Given the description of an element on the screen output the (x, y) to click on. 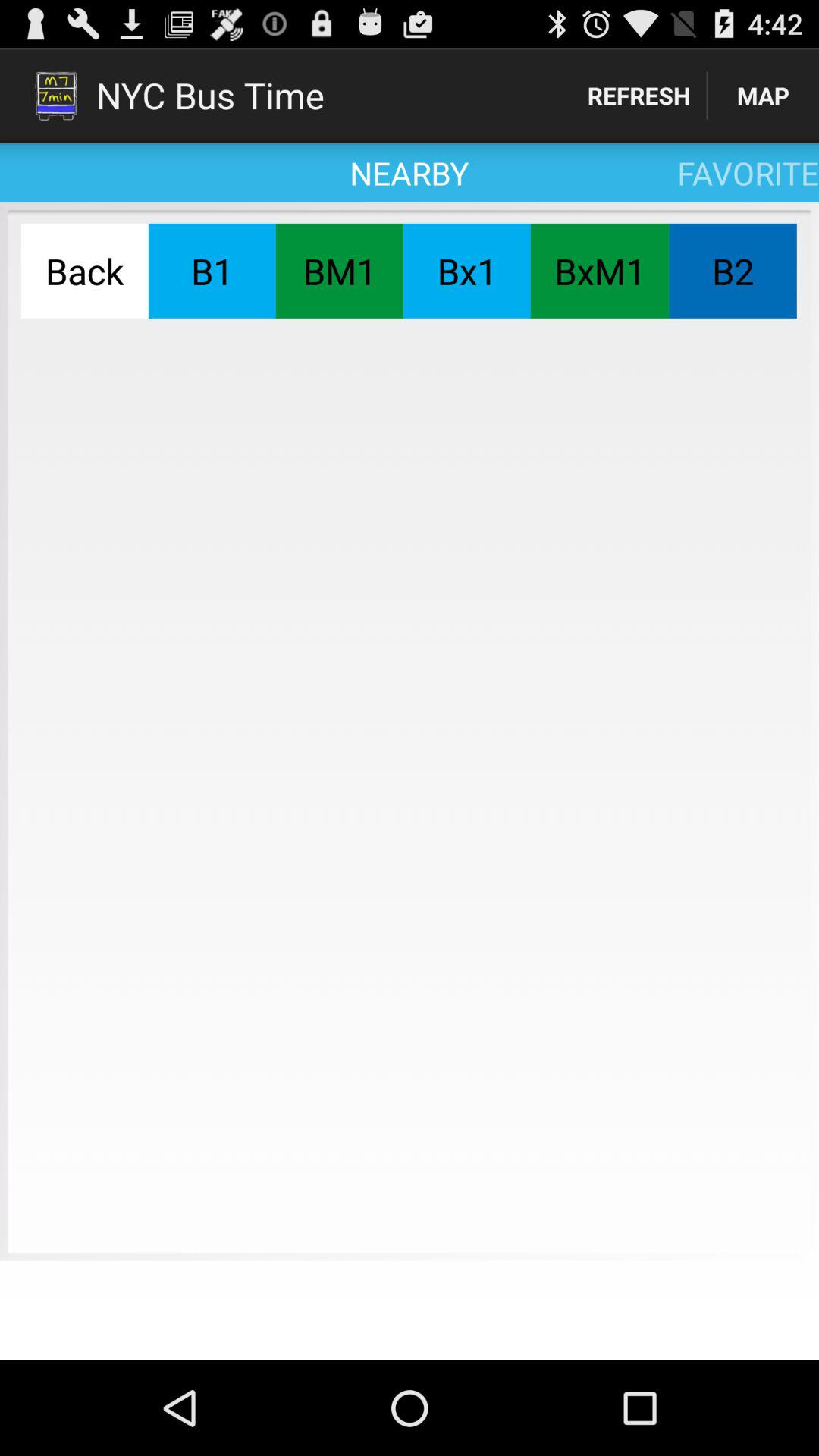
turn off the bxm1 icon (599, 271)
